Given the description of an element on the screen output the (x, y) to click on. 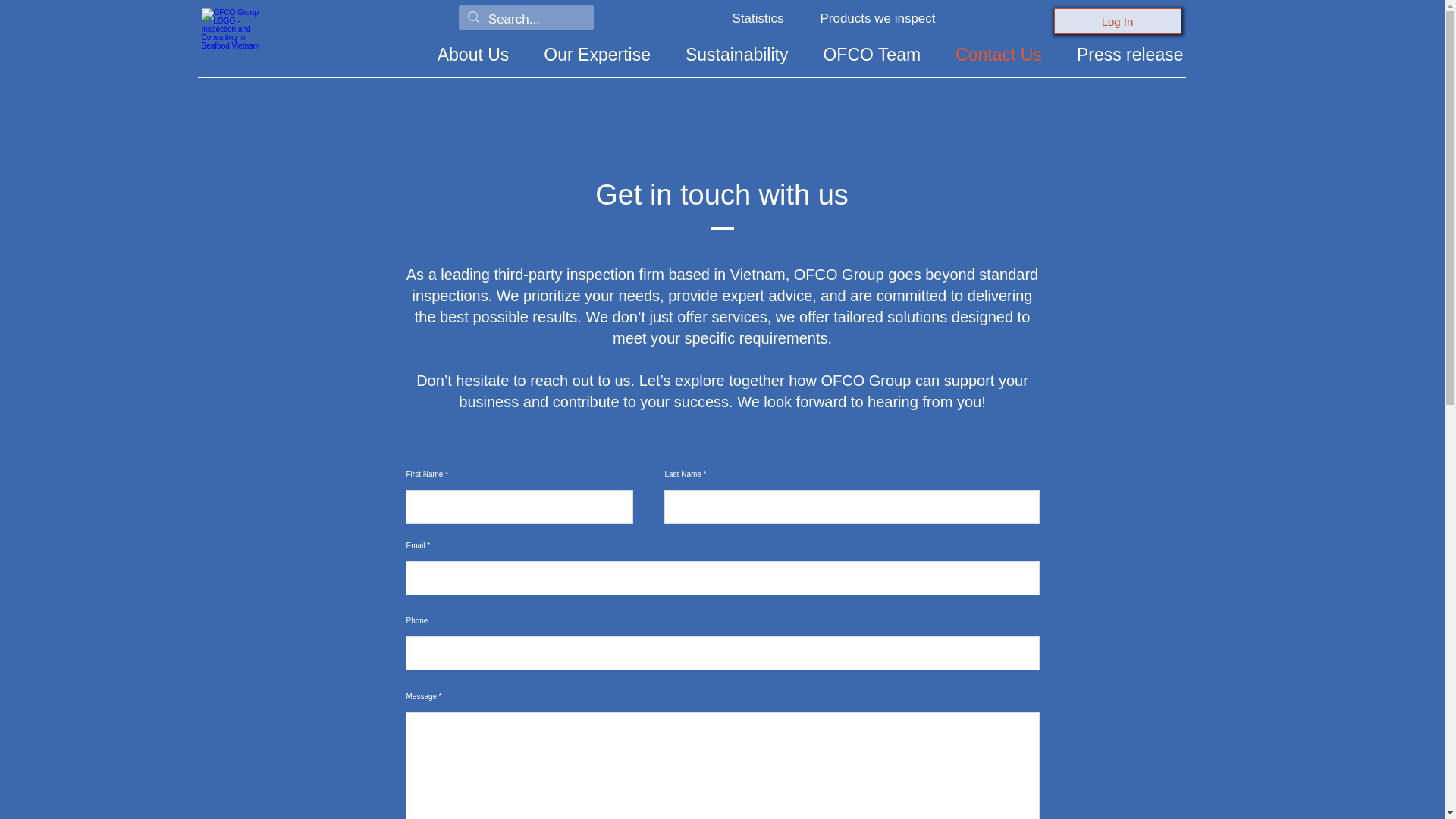
Contact Us (998, 55)
OFCO Team (871, 55)
Statistics (758, 19)
Press release (1129, 55)
Sustainability (737, 55)
Our Expertise (596, 55)
About Us (472, 55)
Log In (1117, 21)
Products we inspect (877, 19)
